Given the description of an element on the screen output the (x, y) to click on. 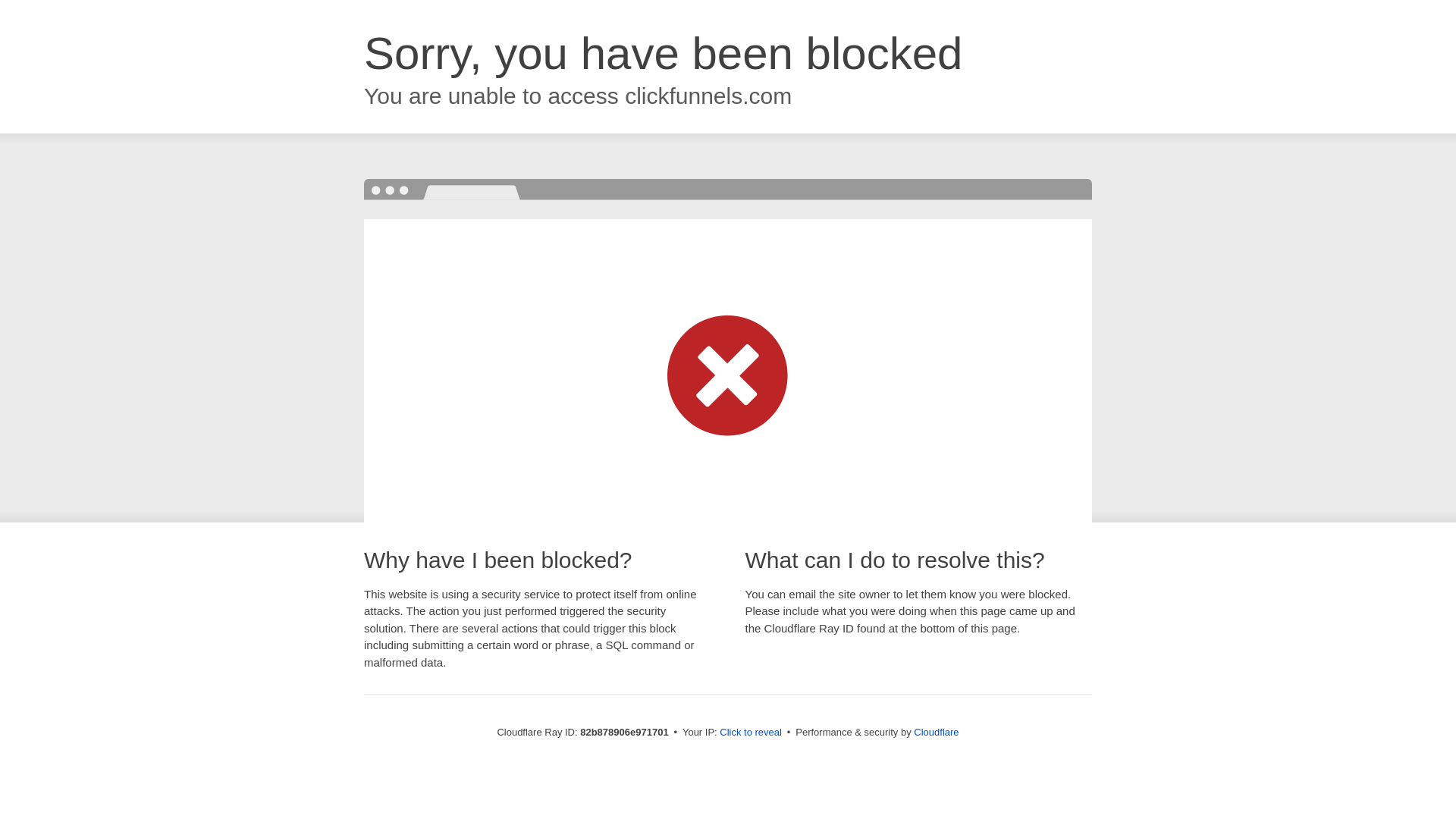
Click to reveal Element type: text (750, 732)
Cloudflare Element type: text (935, 731)
